Given the description of an element on the screen output the (x, y) to click on. 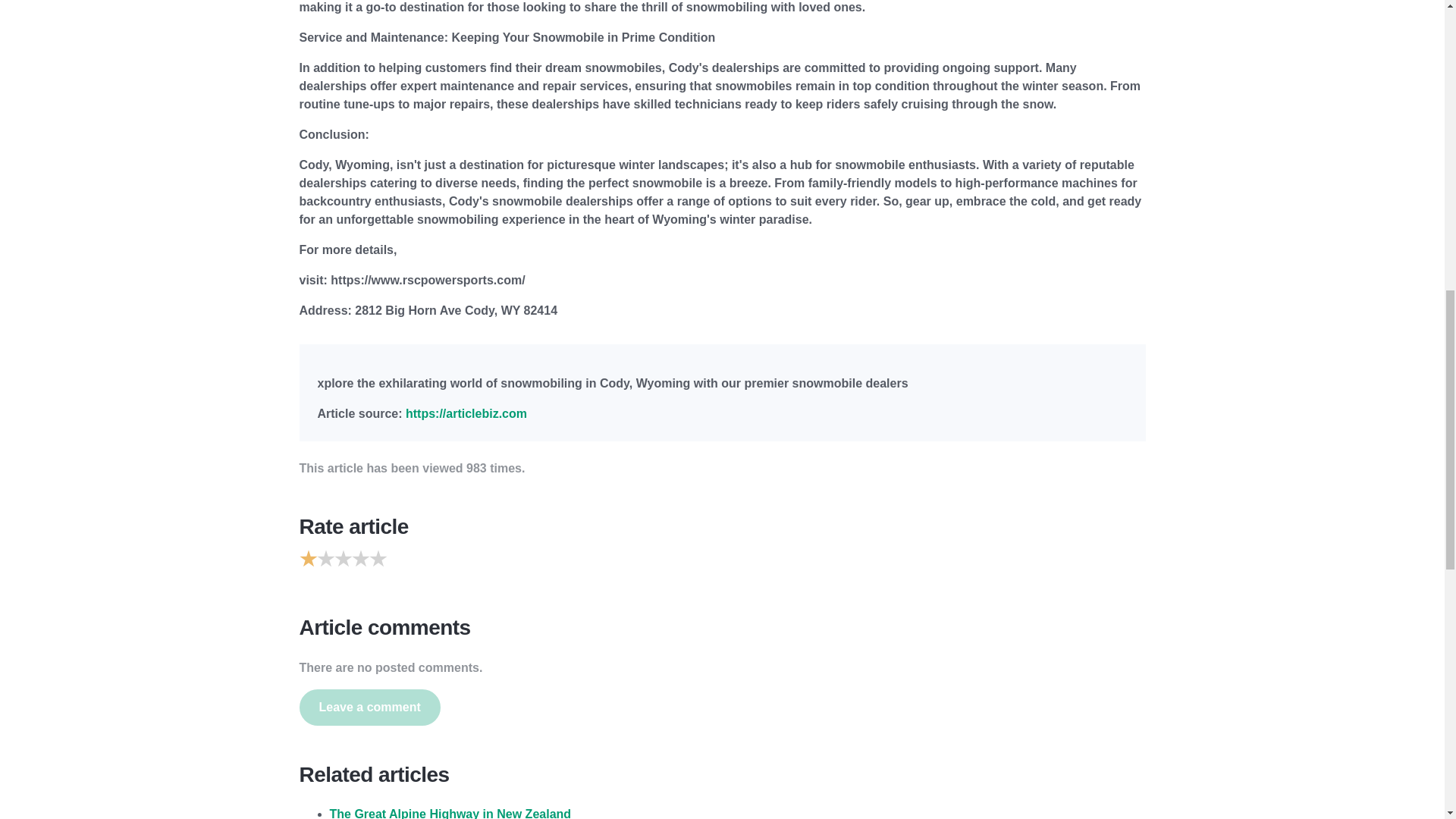
The Great Alpine Highway in New Zealand (449, 813)
Leave a comment (368, 707)
